Given the description of an element on the screen output the (x, y) to click on. 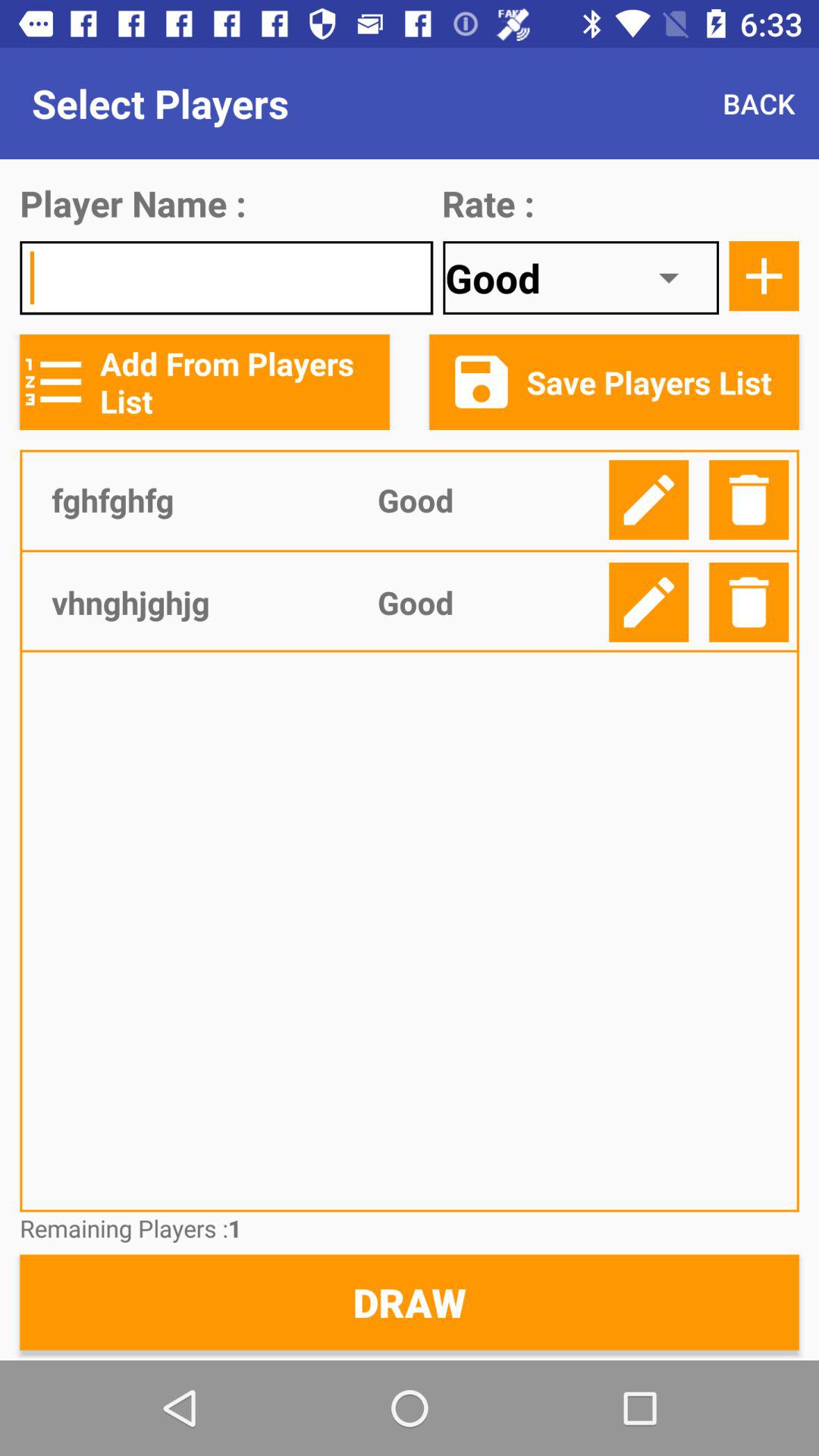
click add option (764, 276)
